Given the description of an element on the screen output the (x, y) to click on. 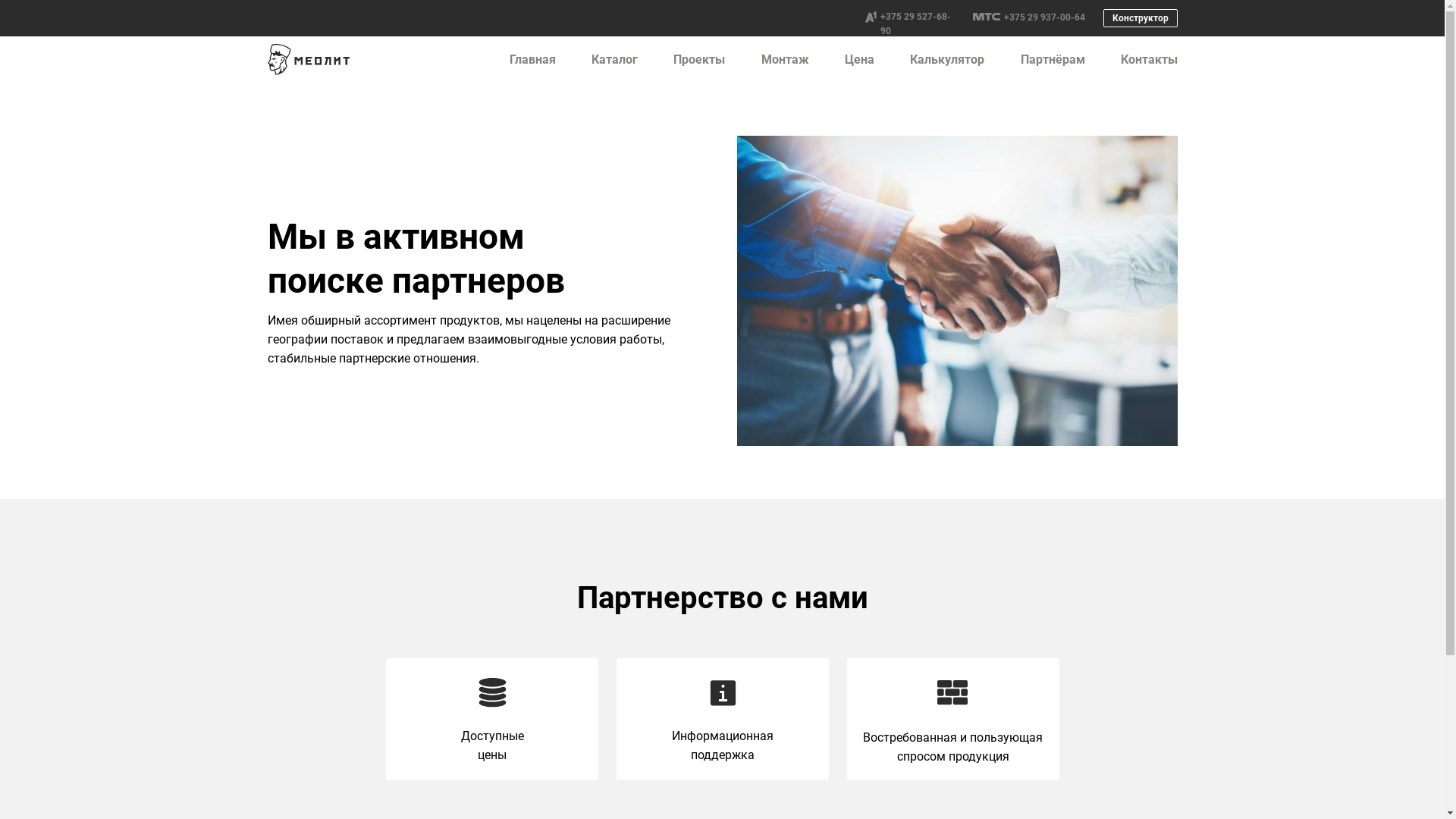
+375 29 527-68-90 Element type: text (914, 23)
+375 29 937-00-64 Element type: text (1044, 17)
